Given the description of an element on the screen output the (x, y) to click on. 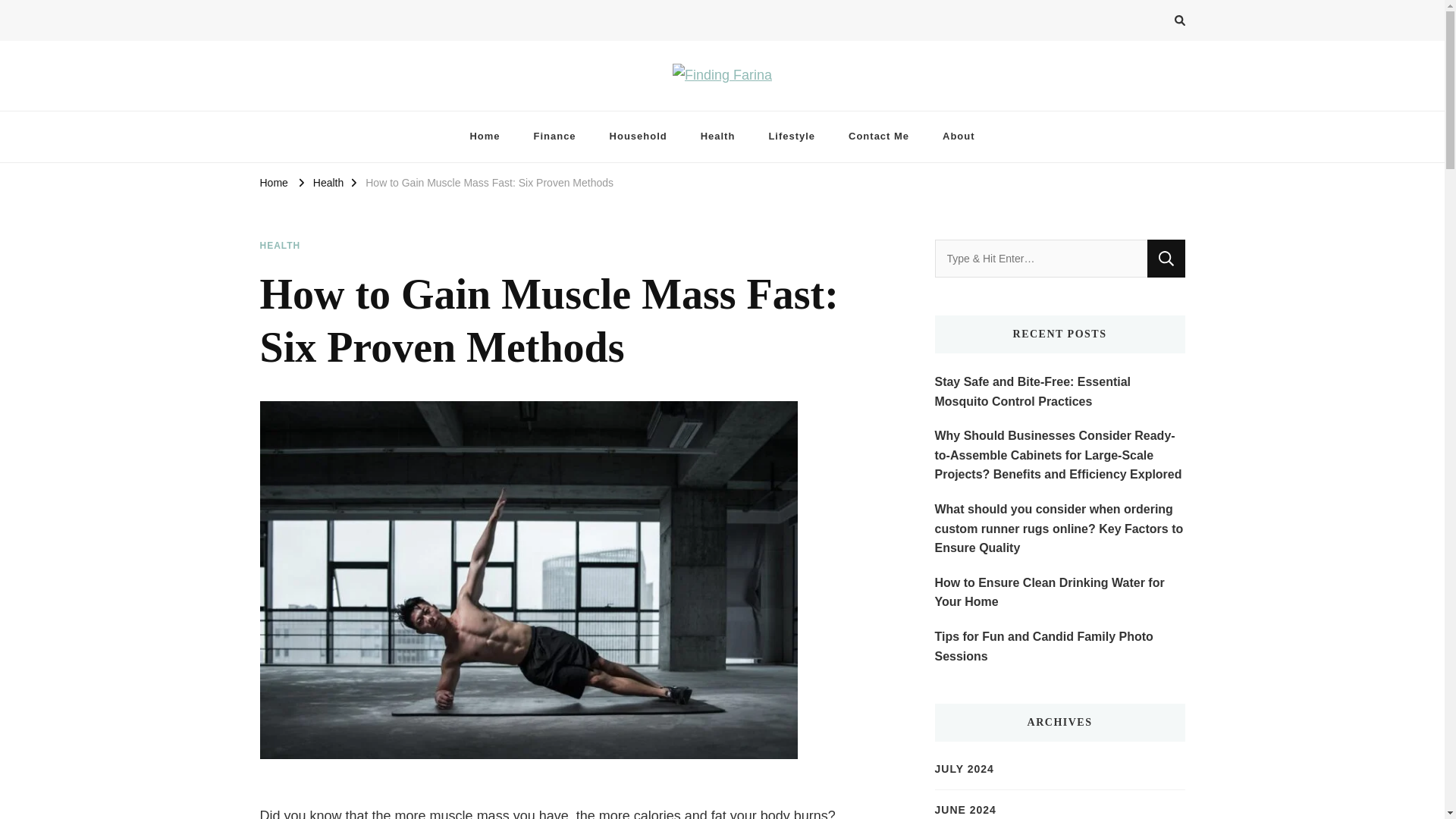
Health (328, 182)
Search (1166, 258)
Household (638, 136)
HEALTH (279, 246)
Search (1166, 258)
How to Ensure Clean Drinking Water for Your Home (1059, 592)
Finding Farina (332, 102)
About (958, 136)
Health (718, 136)
How to Gain Muscle Mass Fast: Six Proven Methods (488, 182)
Home (272, 182)
Home (484, 136)
